Given the description of an element on the screen output the (x, y) to click on. 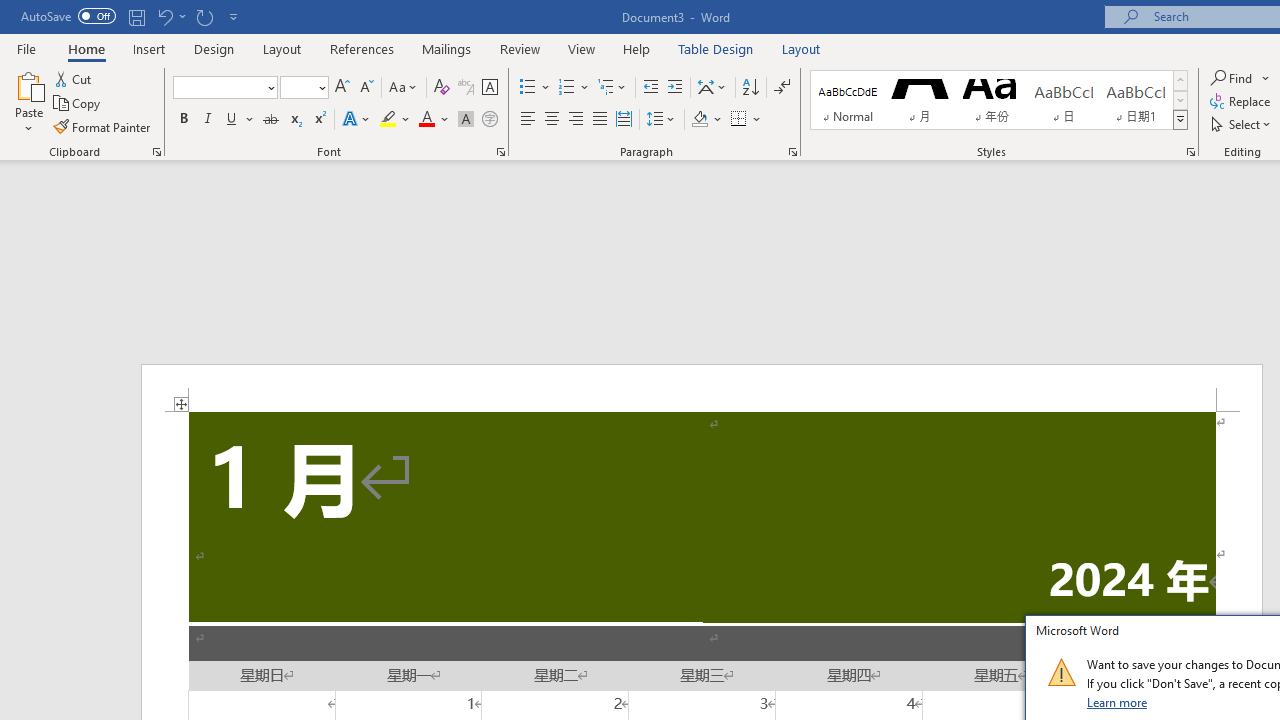
Asian Layout (712, 87)
Underline (232, 119)
Multilevel List (613, 87)
Replace... (1242, 101)
File Tab (26, 48)
Numbering (573, 87)
Open (320, 87)
Center (552, 119)
Learn more (1118, 702)
View (582, 48)
Shading RGB(0, 0, 0) (699, 119)
Office Clipboard... (156, 151)
